Given the description of an element on the screen output the (x, y) to click on. 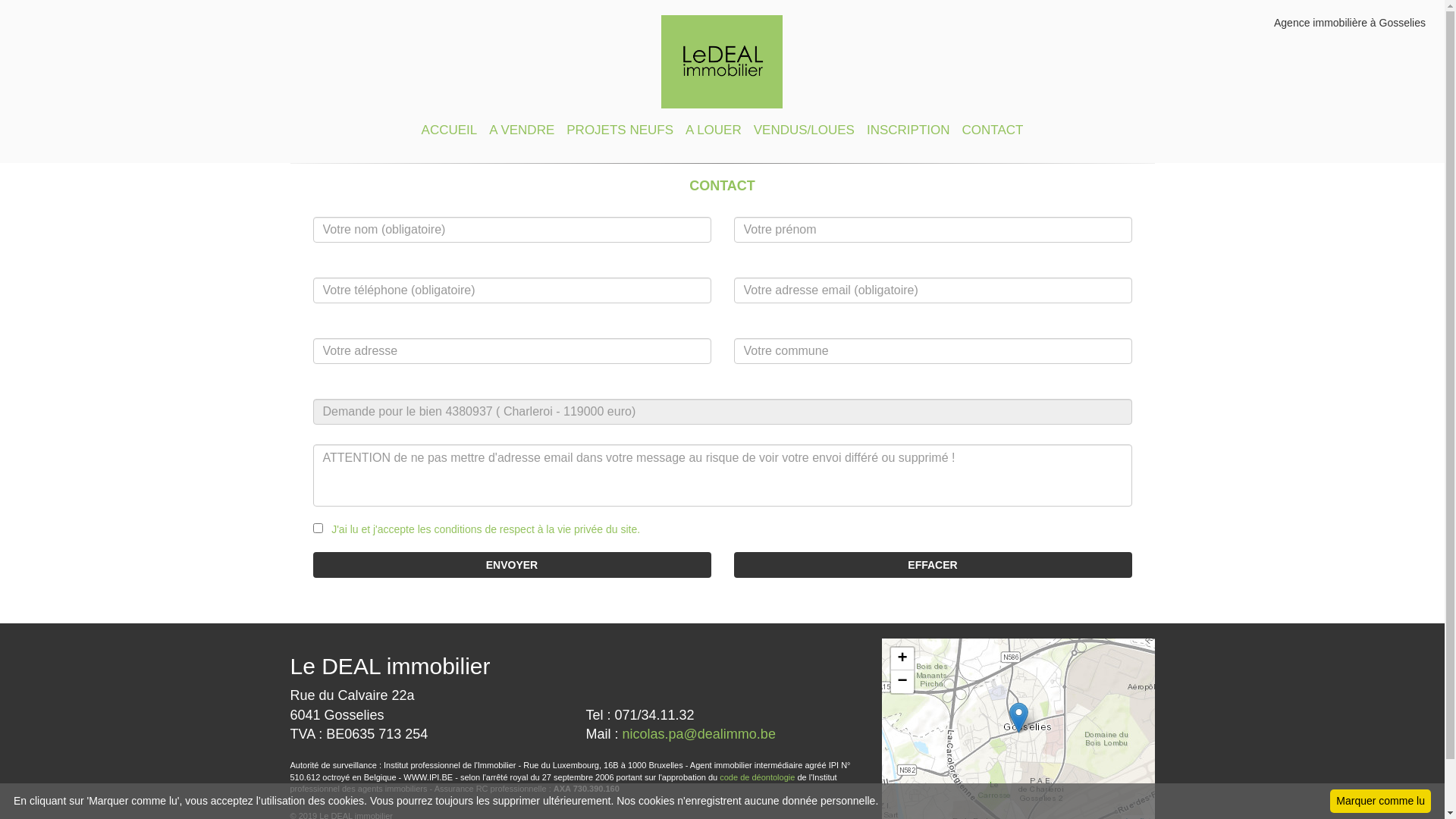
A LOUER Element type: text (713, 125)
EFFACER Element type: text (933, 564)
A VENDRE Element type: text (521, 125)
ENVOYER Element type: text (511, 564)
CONTACT Element type: text (992, 125)
INSCRIPTION Element type: text (908, 125)
PROJETS NEUFS Element type: text (619, 125)
nicolas.pa@dealimmo.be Element type: text (698, 733)
VENDUS/LOUES Element type: text (803, 125)
ACCUEIL Element type: text (449, 125)
+ Element type: text (901, 658)
